Given the description of an element on the screen output the (x, y) to click on. 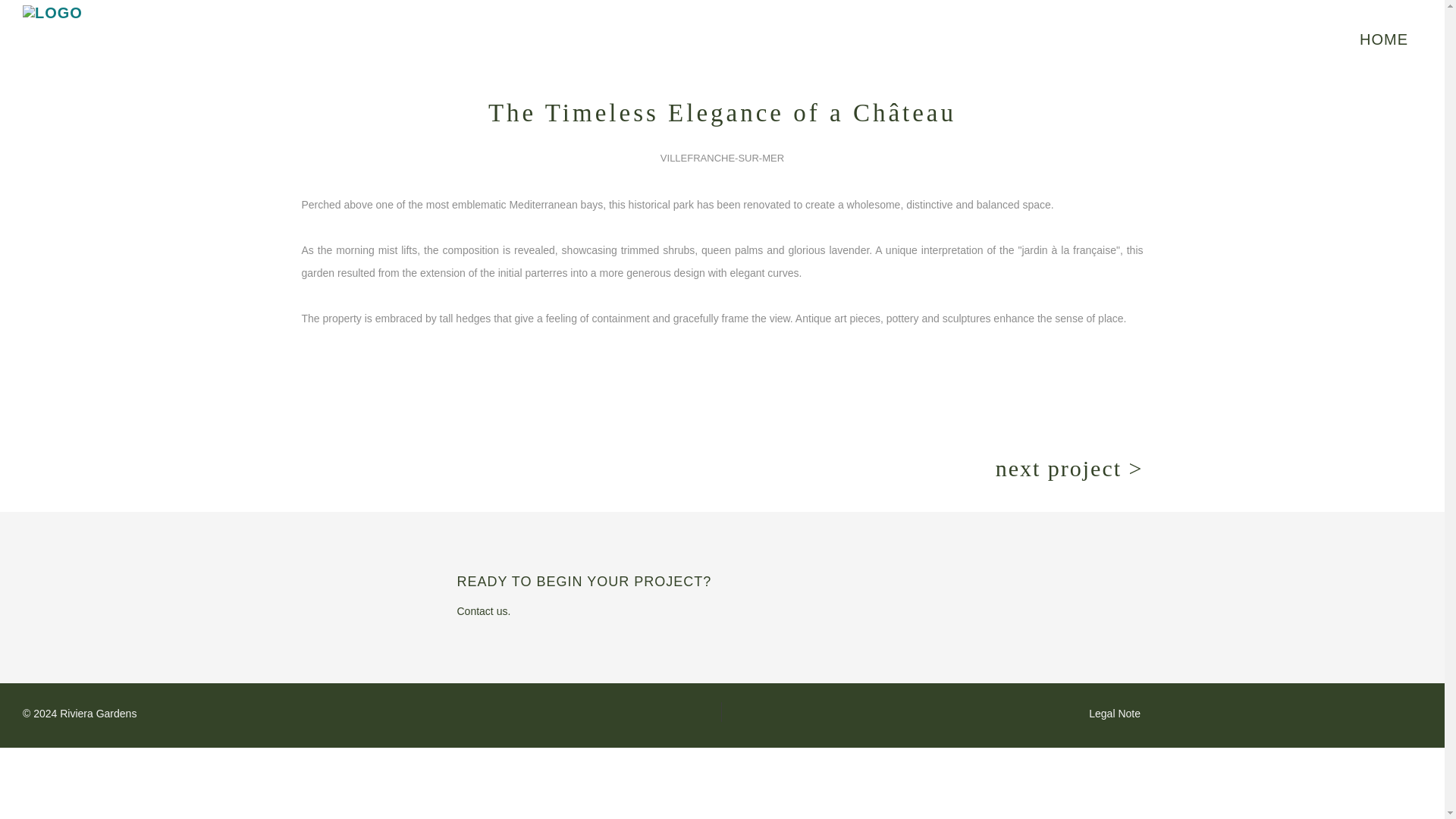
Share on Facebook (738, 711)
Contact us (484, 611)
Follow on Instagram (701, 711)
Legal Note (1114, 713)
Contact us. (484, 611)
HOME (1383, 39)
HOME (1383, 39)
